Given the description of an element on the screen output the (x, y) to click on. 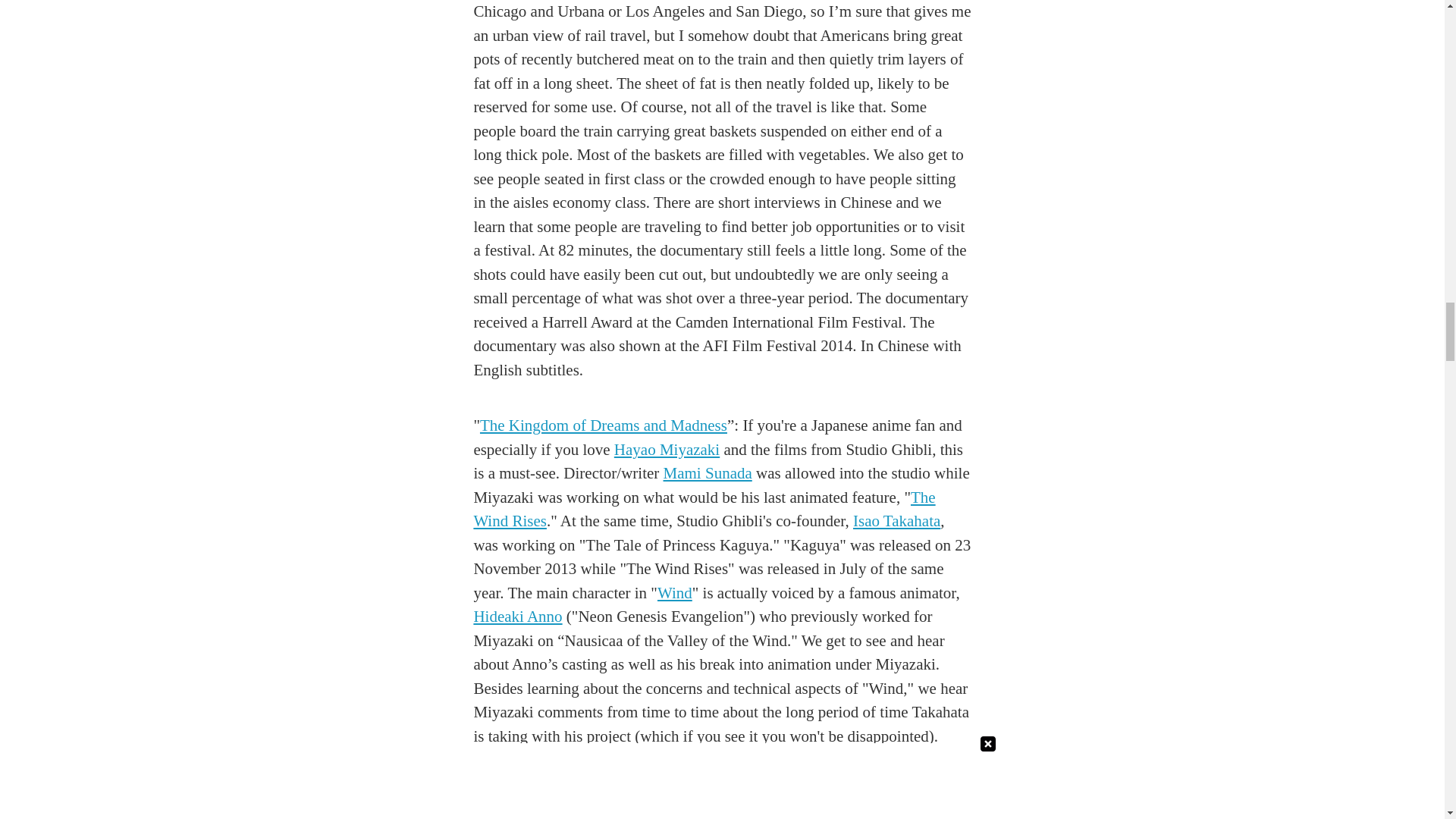
Mami Sunada (707, 473)
Wind (675, 592)
Isao Takahata (896, 520)
Hayao Miyazaki (666, 449)
Hideaki Anno (517, 616)
The Kingdom of Dreams and Madness (603, 425)
The Wind Rises (703, 509)
